Given the description of an element on the screen output the (x, y) to click on. 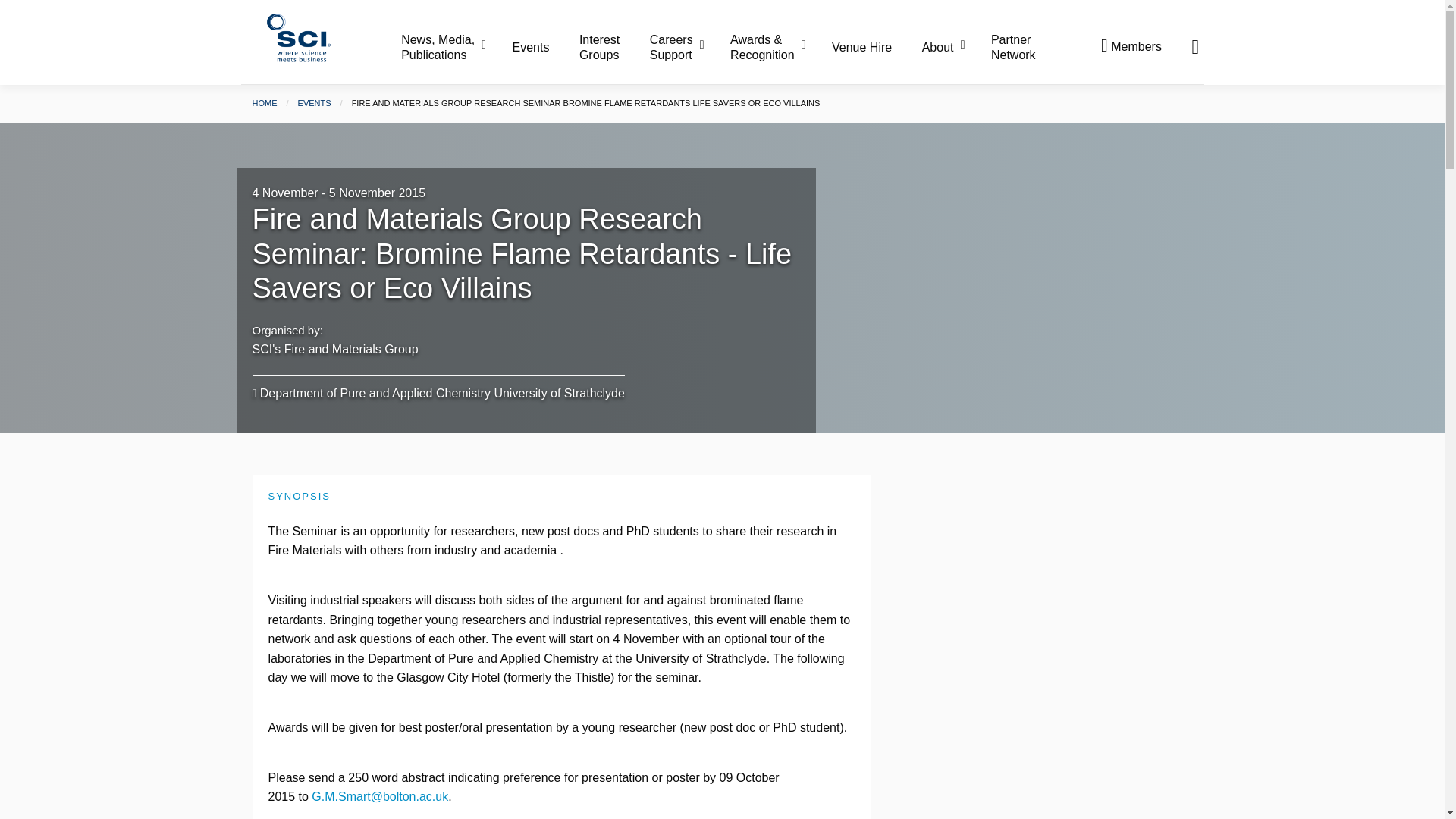
News, Media, Publications (454, 47)
About (954, 47)
Events (544, 47)
Interest Groups (612, 47)
Partner Network (1013, 47)
Careers Support (687, 47)
Venue Hire (874, 47)
